Given the description of an element on the screen output the (x, y) to click on. 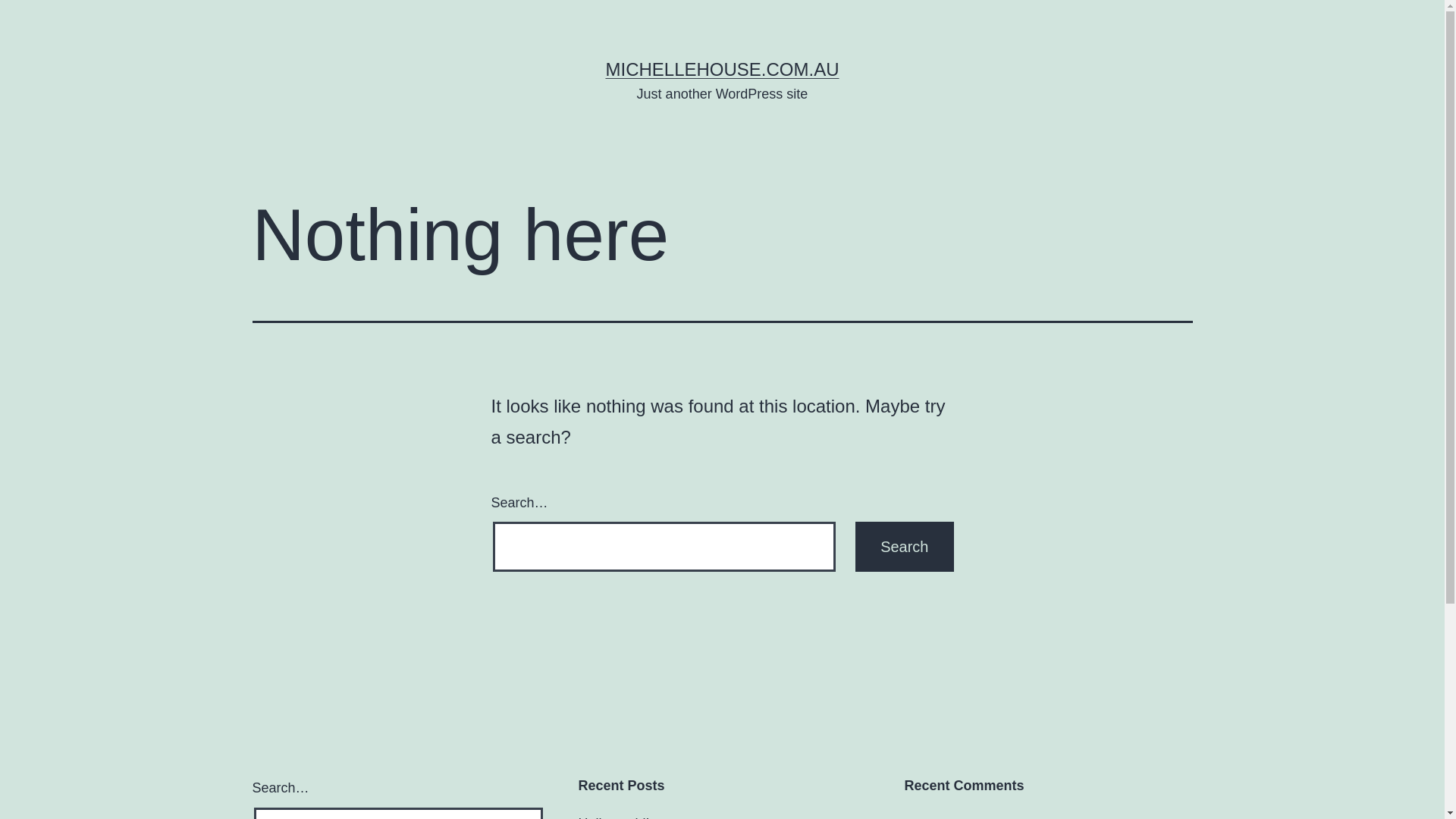
Search Element type: text (904, 546)
MICHELLEHOUSE.COM.AU Element type: text (721, 69)
